Given the description of an element on the screen output the (x, y) to click on. 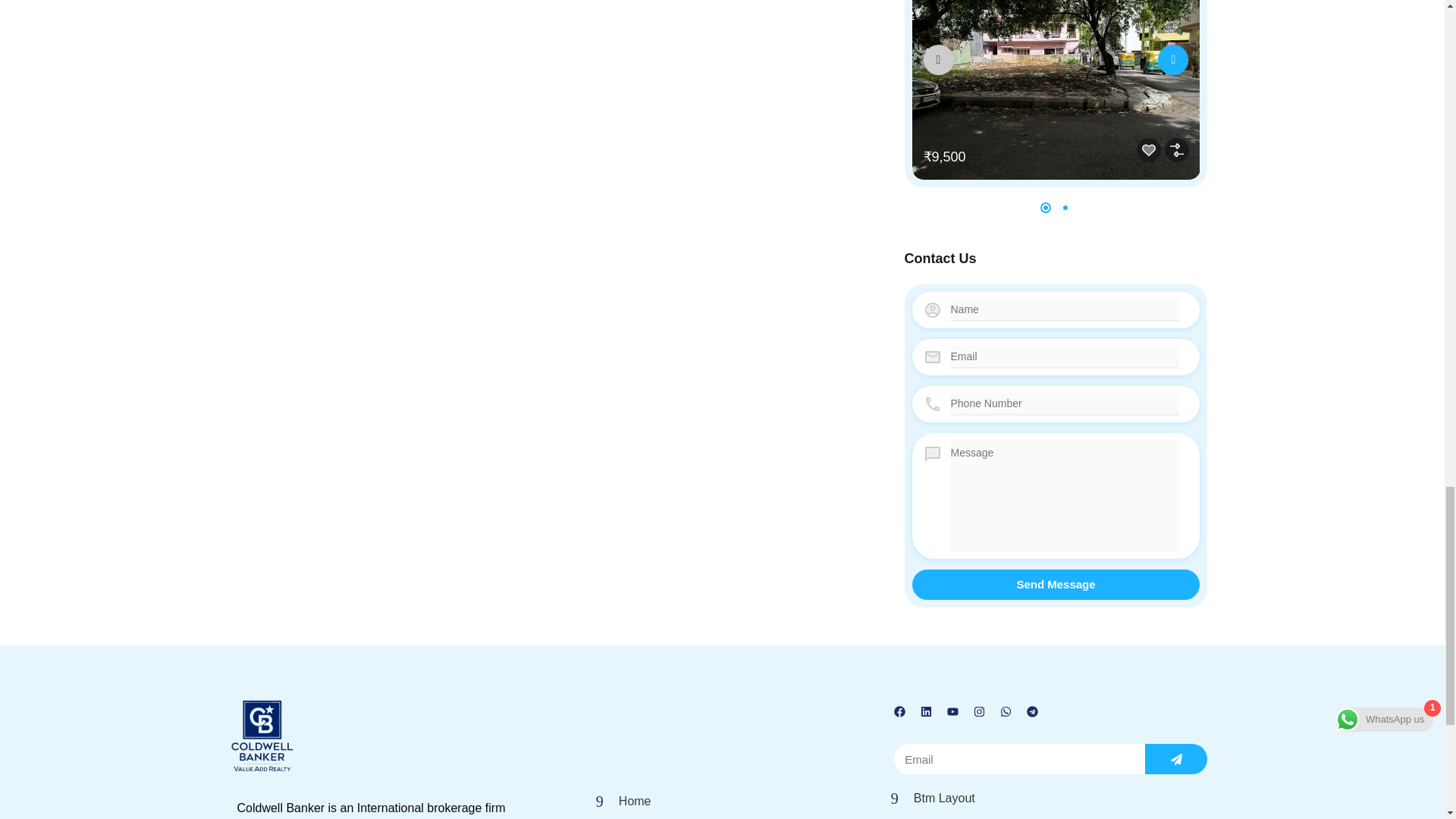
Add to favorites (1147, 150)
Add to compare (1176, 150)
Send Message (1055, 584)
